Given the description of an element on the screen output the (x, y) to click on. 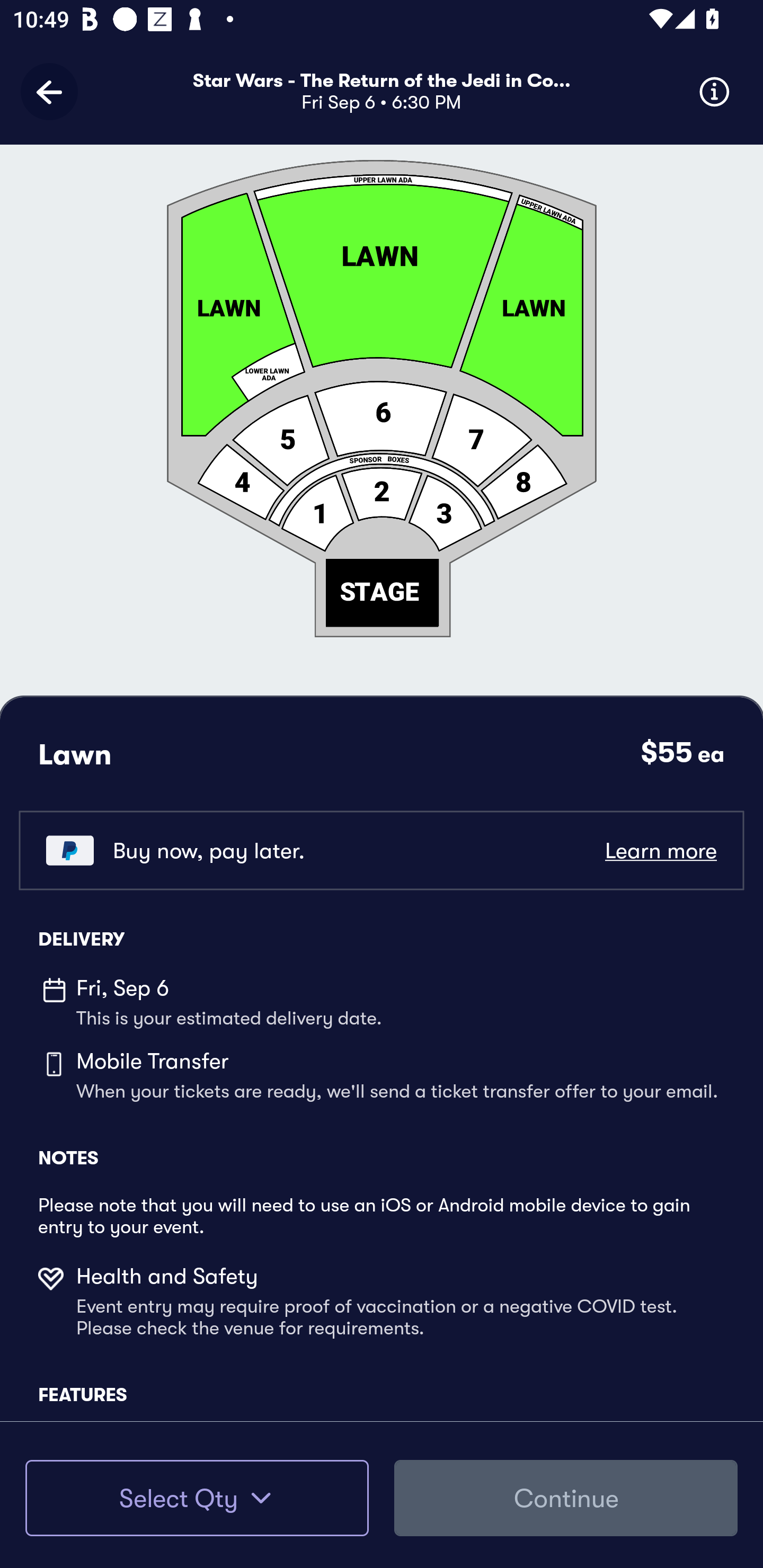
Learn more (660, 850)
Select Qty (196, 1497)
Continue (565, 1497)
